Given the description of an element on the screen output the (x, y) to click on. 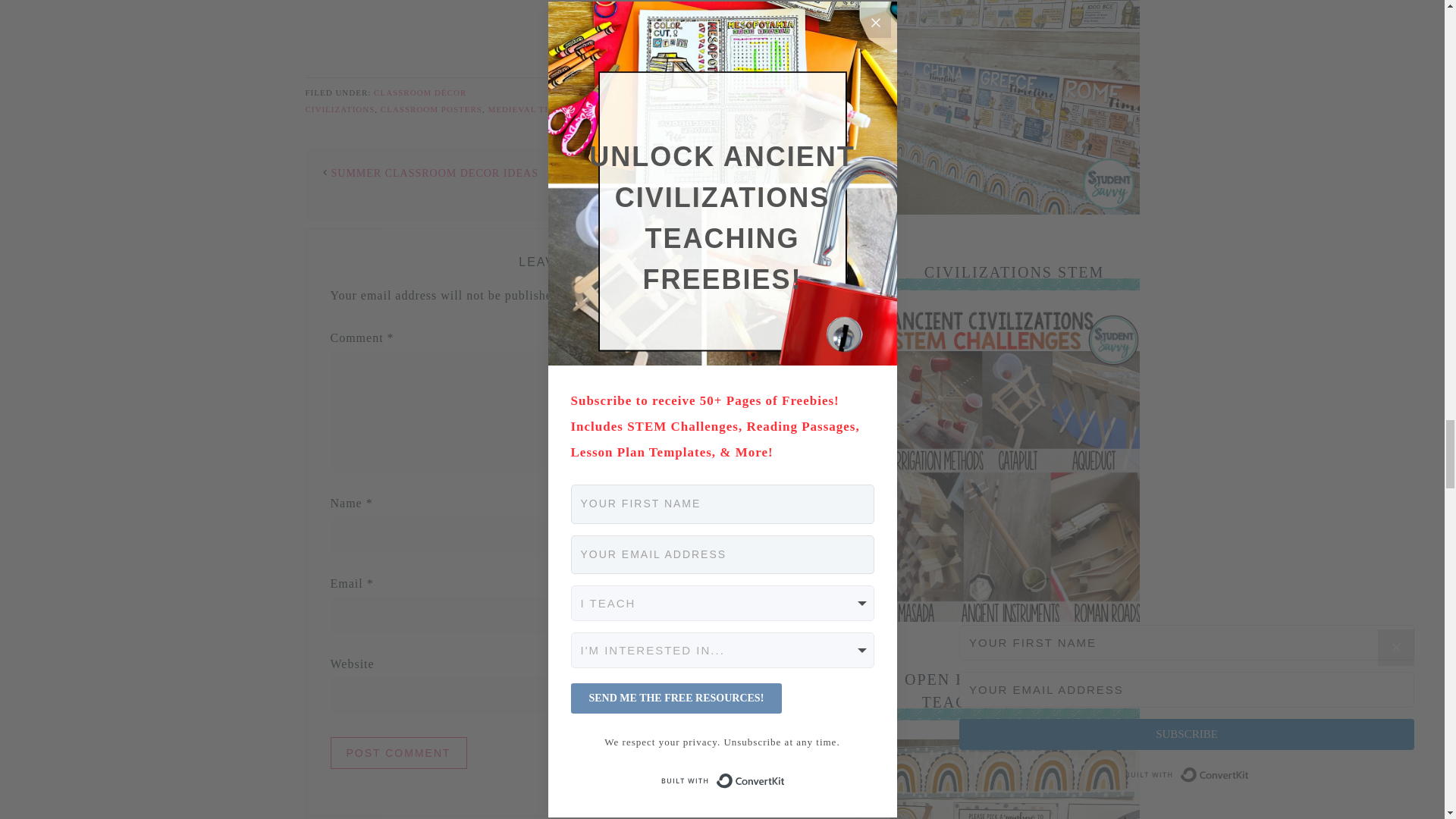
Civilizations STEM (1013, 617)
Post Comment (398, 753)
